Given the description of an element on the screen output the (x, y) to click on. 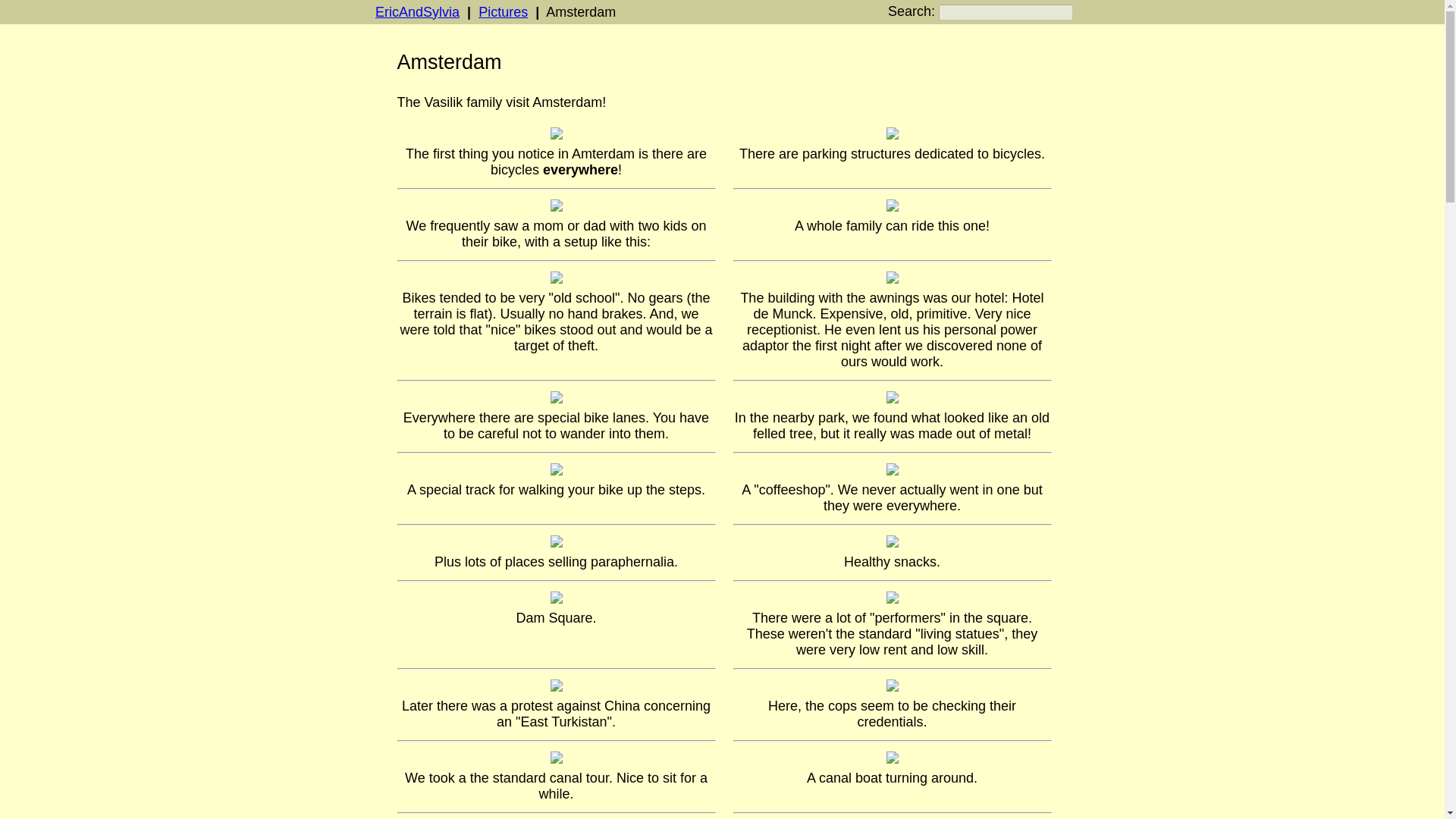
EricAndSylvia (417, 11)
Pictures (503, 11)
